Given the description of an element on the screen output the (x, y) to click on. 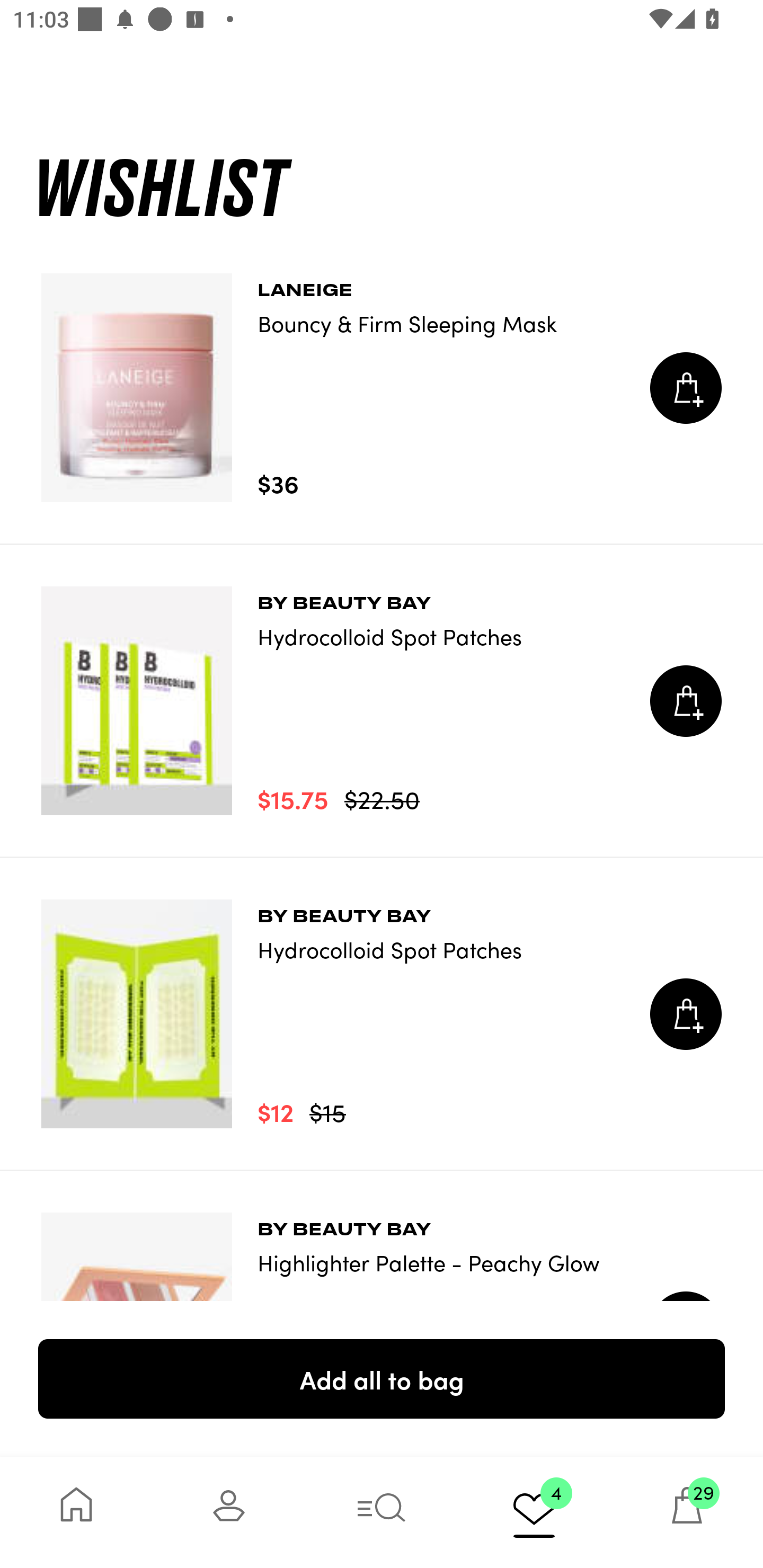
LANEIGE Bouncy & Firm Sleeping Mask $36 (381, 388)
BY BEAUTY BAY Hydrocolloid Spot Patches $12 $15 (381, 1013)
Add all to bag (381, 1379)
4 (533, 1512)
29 (686, 1512)
